Given the description of an element on the screen output the (x, y) to click on. 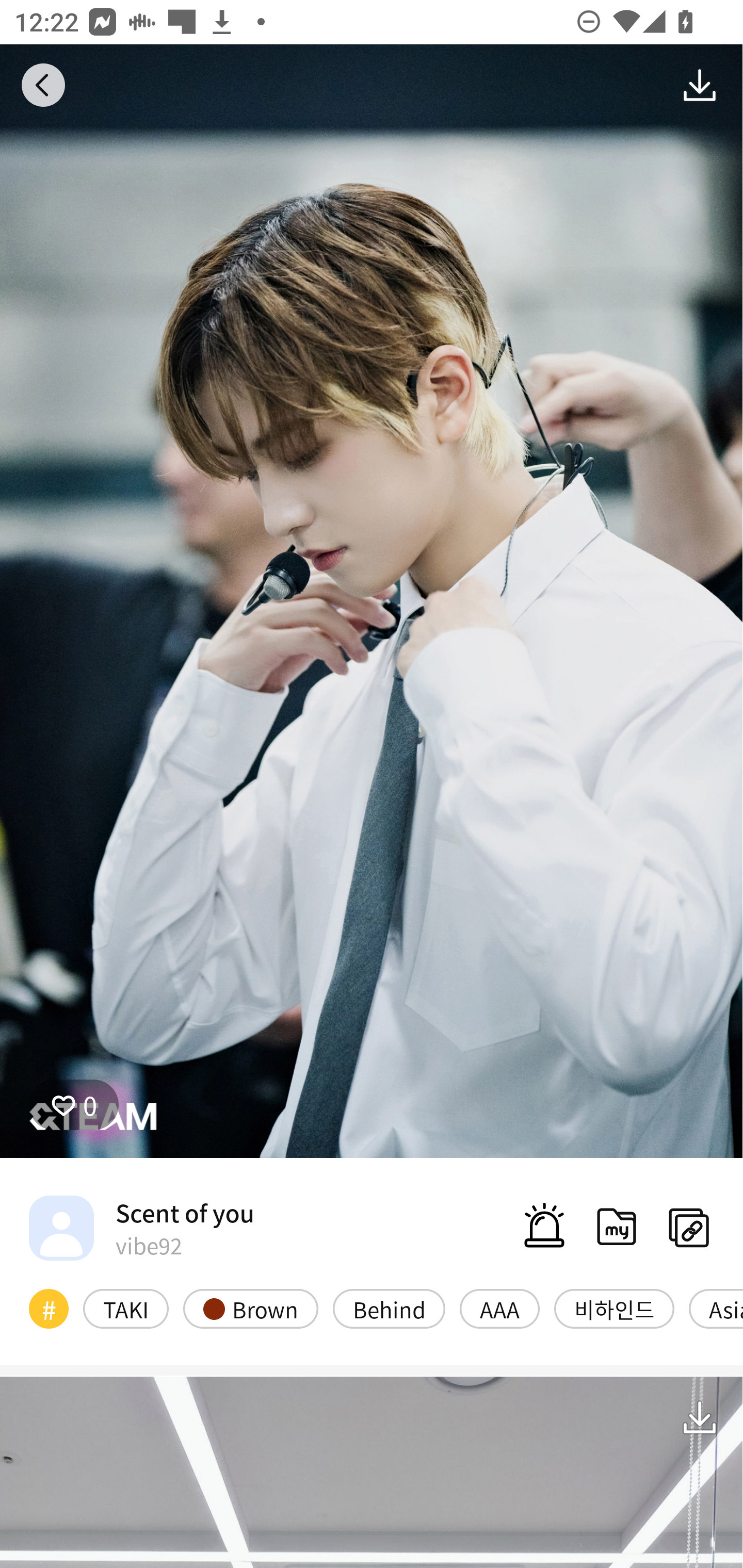
0 (73, 1104)
Scent of you vibe92 (141, 1227)
TAKI (125, 1308)
Brown (250, 1308)
Behind (388, 1308)
AAA (499, 1308)
비하인드 (614, 1308)
AsiaArtistAwards (715, 1308)
